Given the description of an element on the screen output the (x, y) to click on. 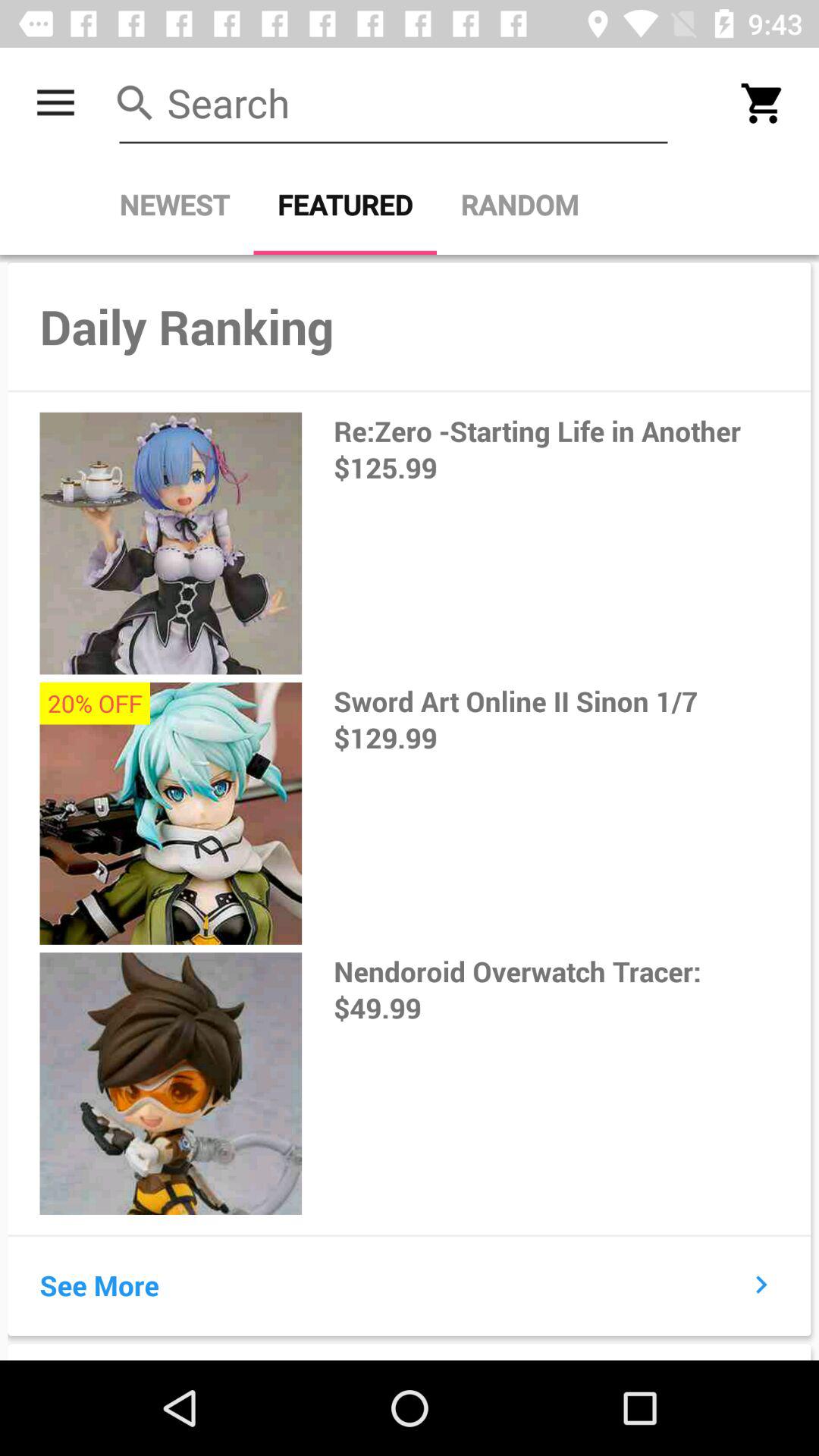
click the item next to the featured item (519, 204)
